Given the description of an element on the screen output the (x, y) to click on. 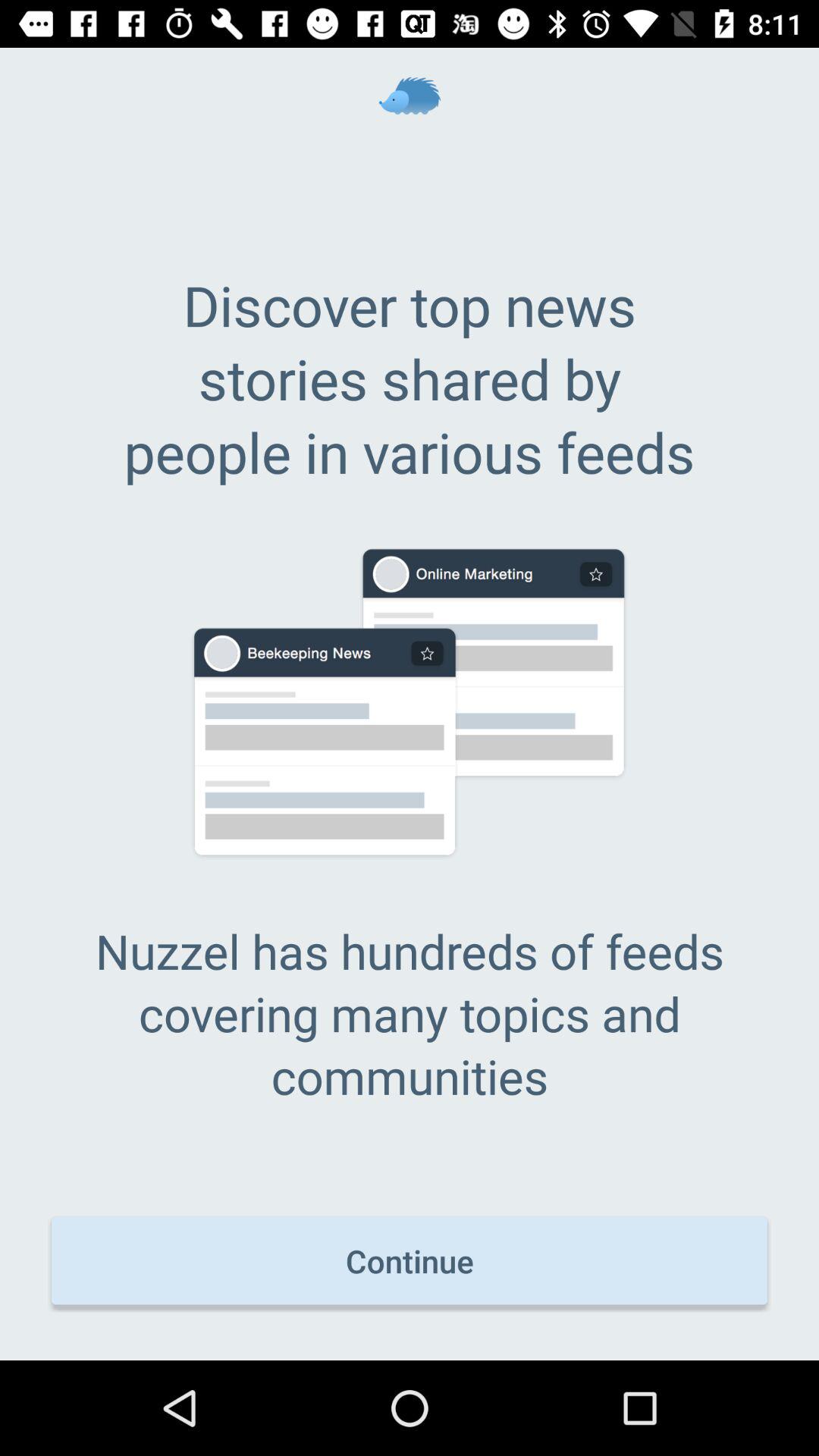
click the icon below nuzzel has hundreds (409, 1260)
